Given the description of an element on the screen output the (x, y) to click on. 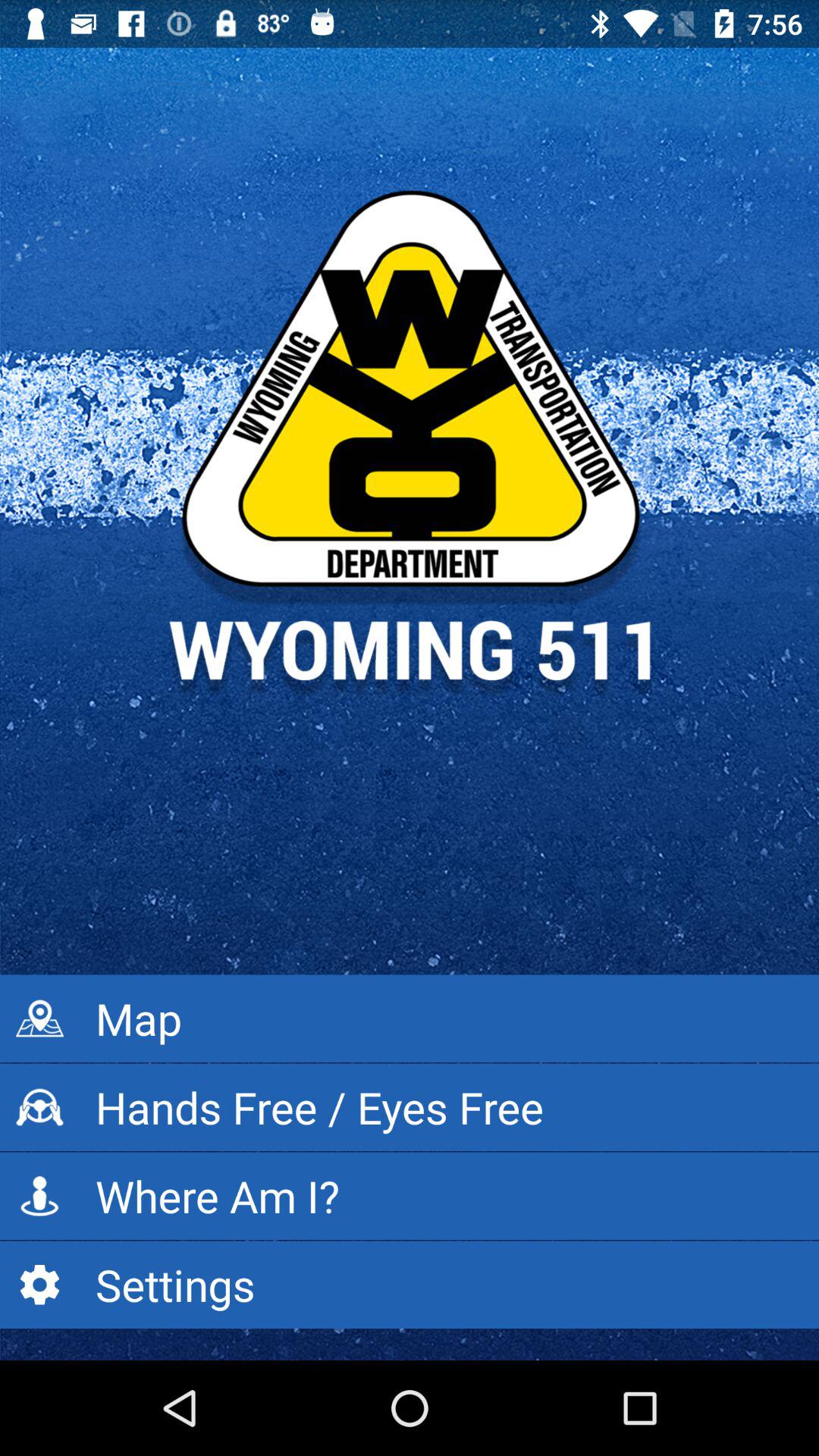
open the app below map item (409, 1107)
